Given the description of an element on the screen output the (x, y) to click on. 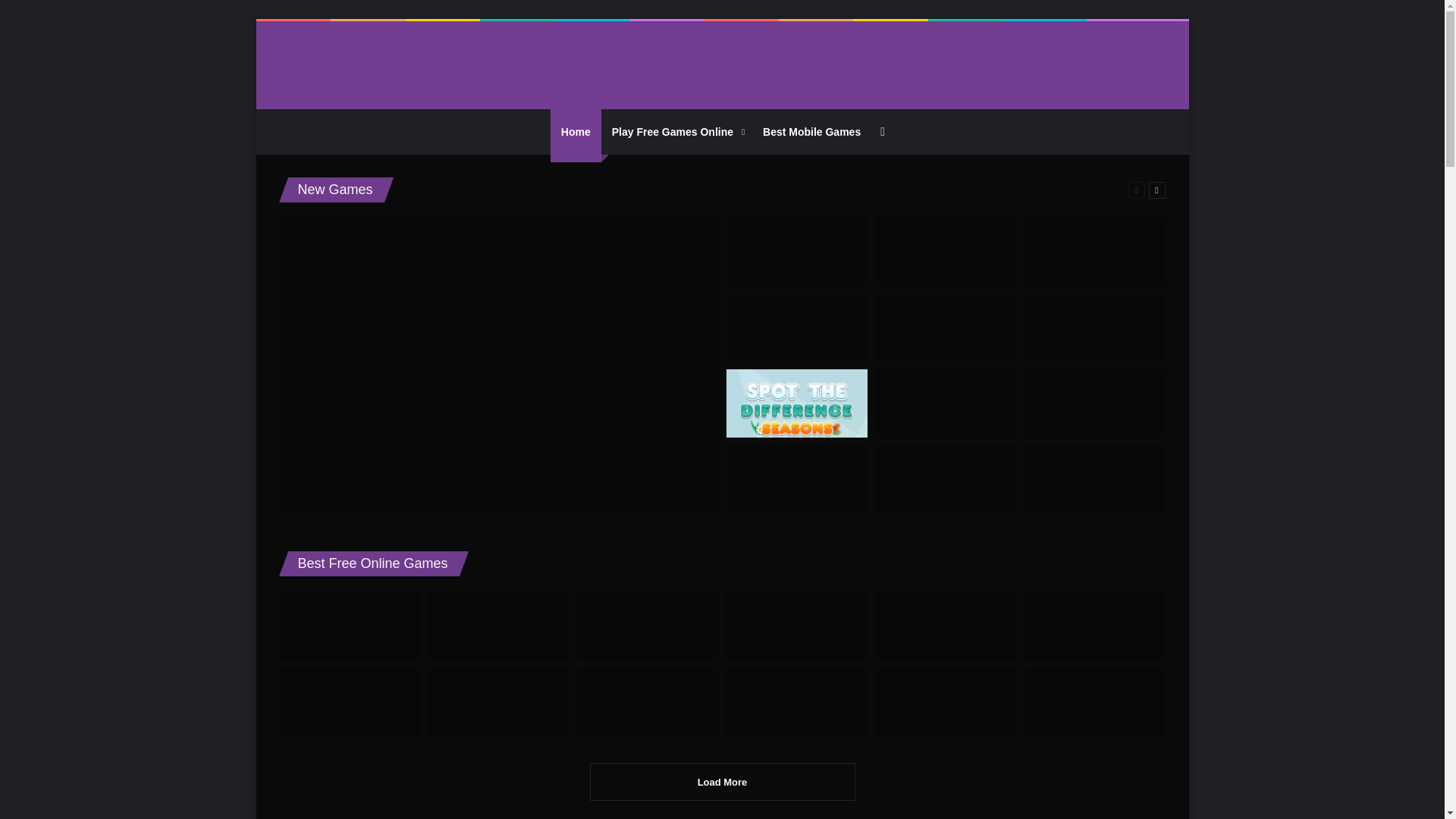
Best Mobile Games (811, 131)
New Games (334, 189)
Best Free Online Games (371, 563)
Home (575, 131)
GameProGuides (721, 64)
Previous page (1136, 190)
Next page (1156, 190)
Play Free Games Online (676, 131)
